Given the description of an element on the screen output the (x, y) to click on. 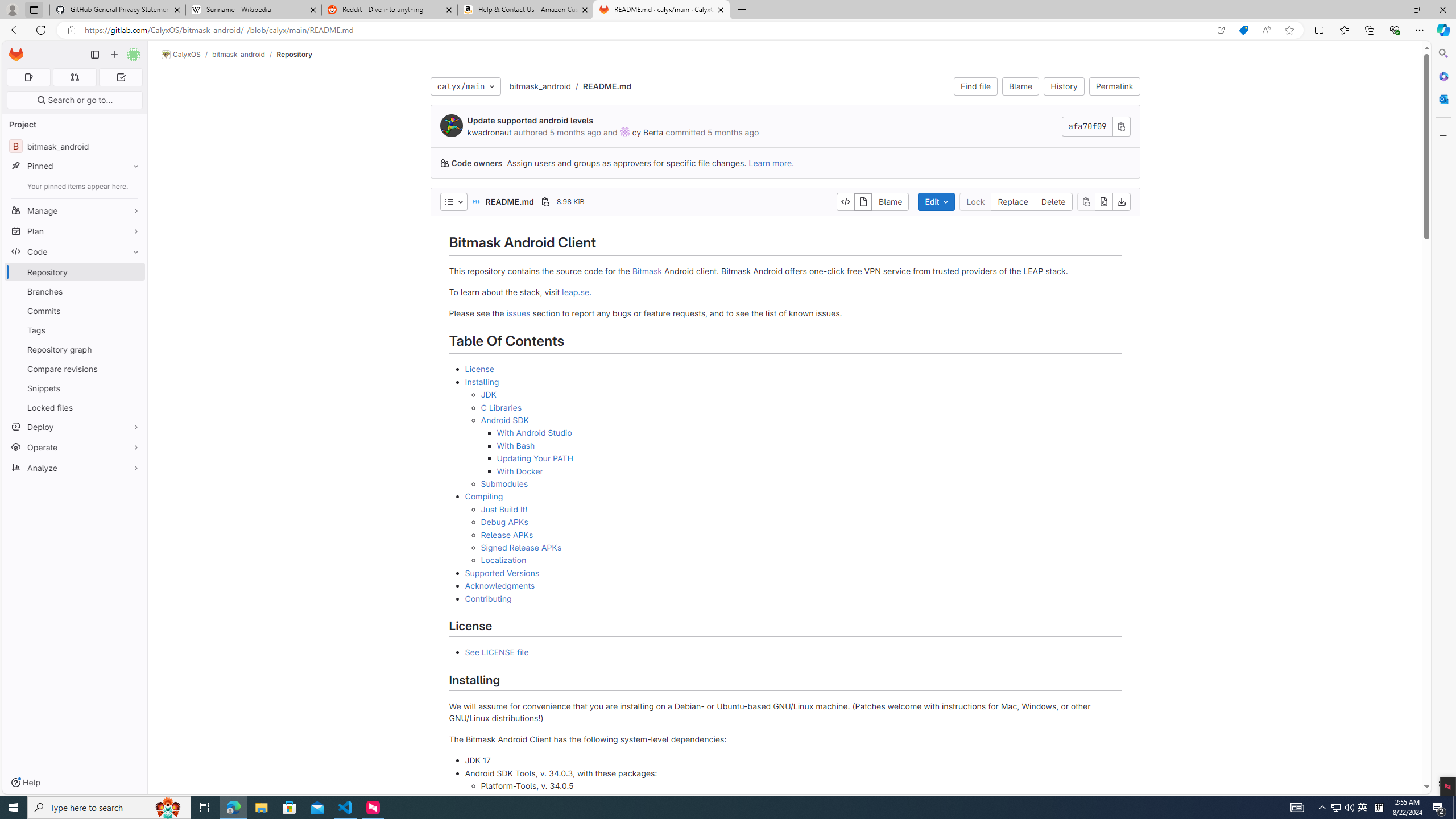
Submodules (504, 483)
Platform-Tools, v. 34.0.5 (800, 785)
Blame (891, 201)
Bitmask (646, 270)
bitmask_android (539, 85)
Pin Branches (132, 291)
Release APKs (506, 534)
JDK (488, 394)
Branches (74, 290)
Commits (74, 310)
Display rendered file (863, 201)
issues (517, 312)
